Given the description of an element on the screen output the (x, y) to click on. 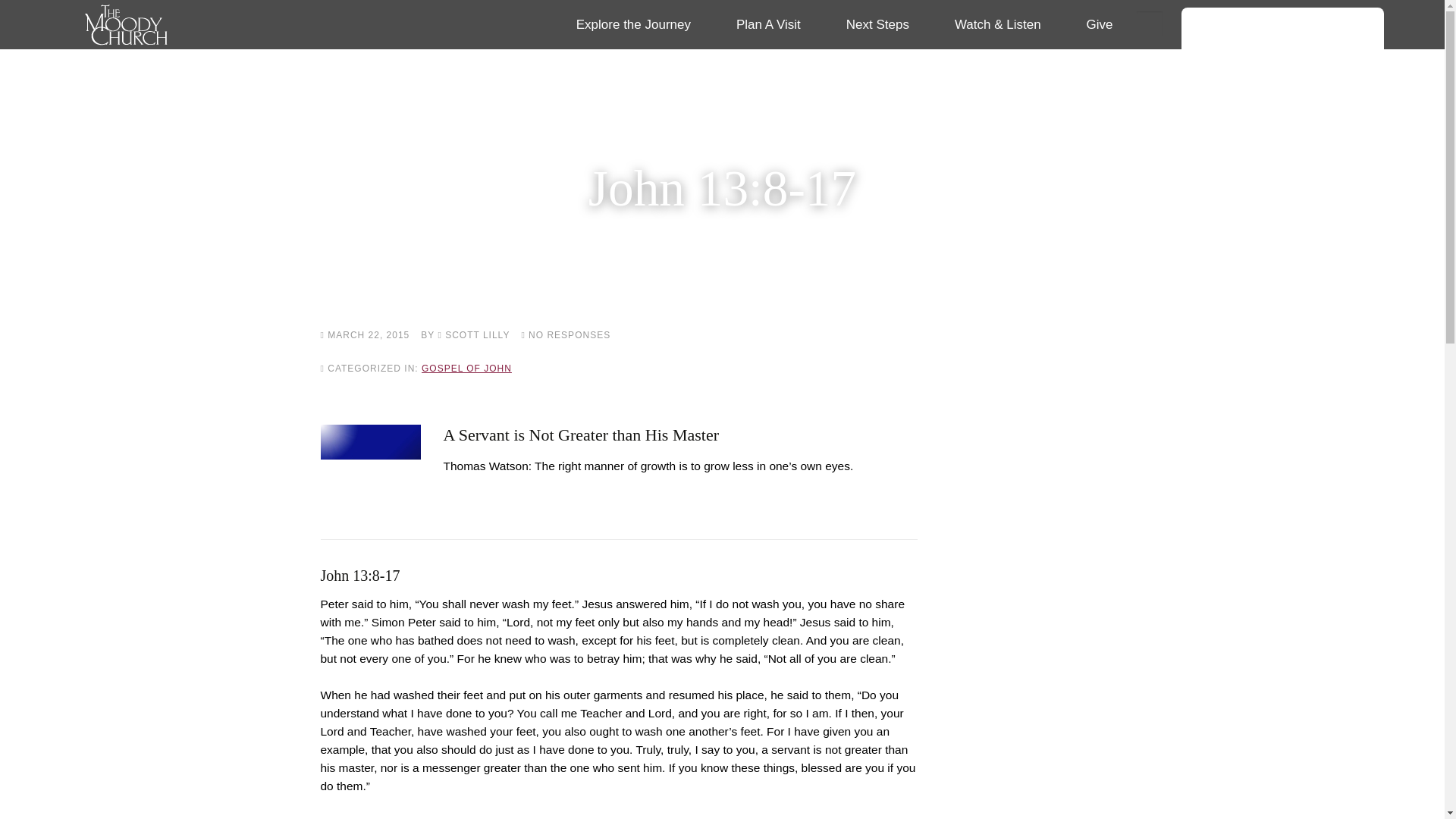
Journey of a Lifetime (660, 64)
Plan A Visit (768, 24)
GOSPEL OF JOHN (467, 368)
Next Steps (877, 24)
Give (1099, 24)
Explore the Journey (633, 24)
The Moody Church (201, 24)
My Groups (1283, 242)
